Given the description of an element on the screen output the (x, y) to click on. 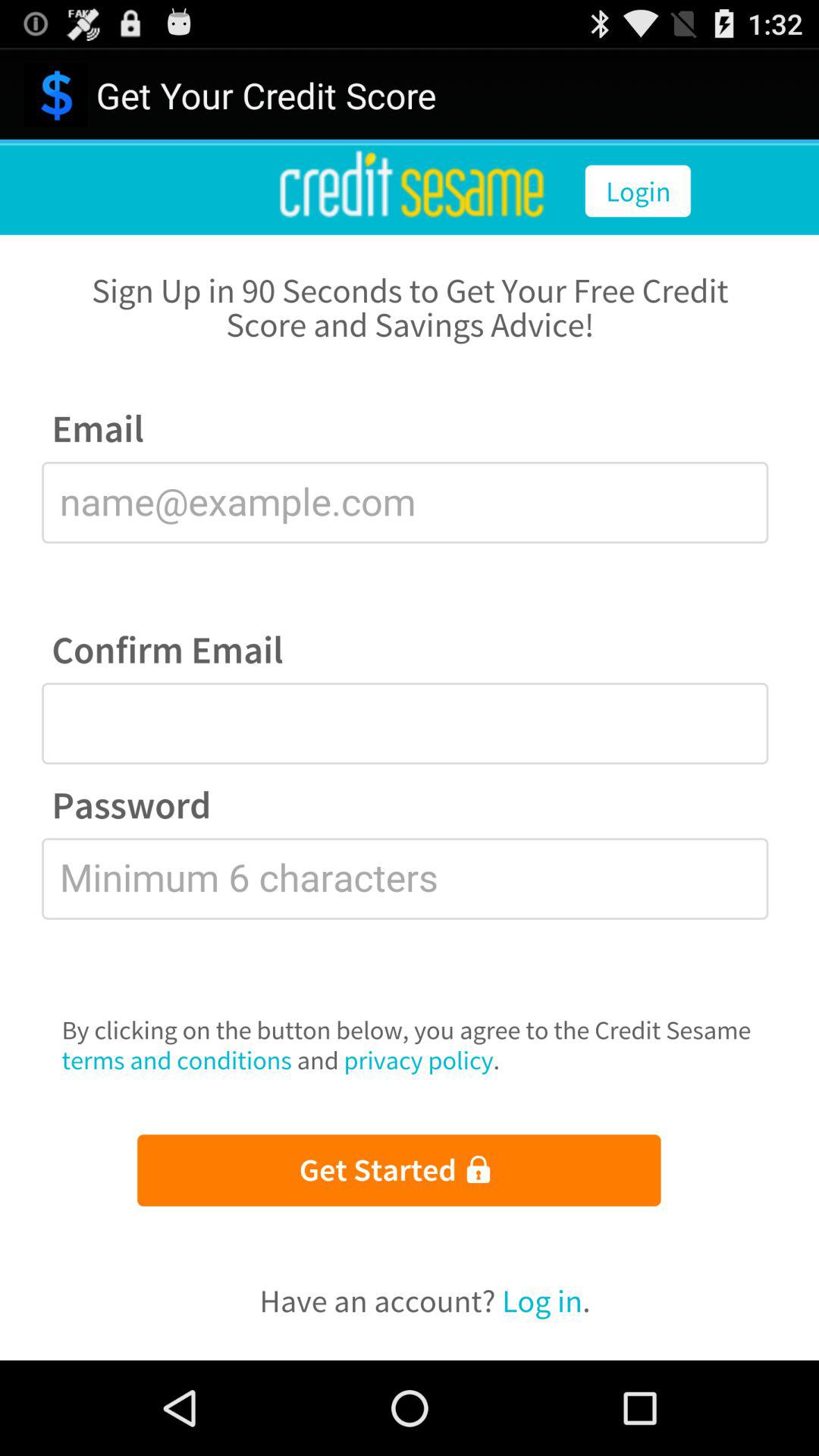
total web page (409, 751)
